Given the description of an element on the screen output the (x, y) to click on. 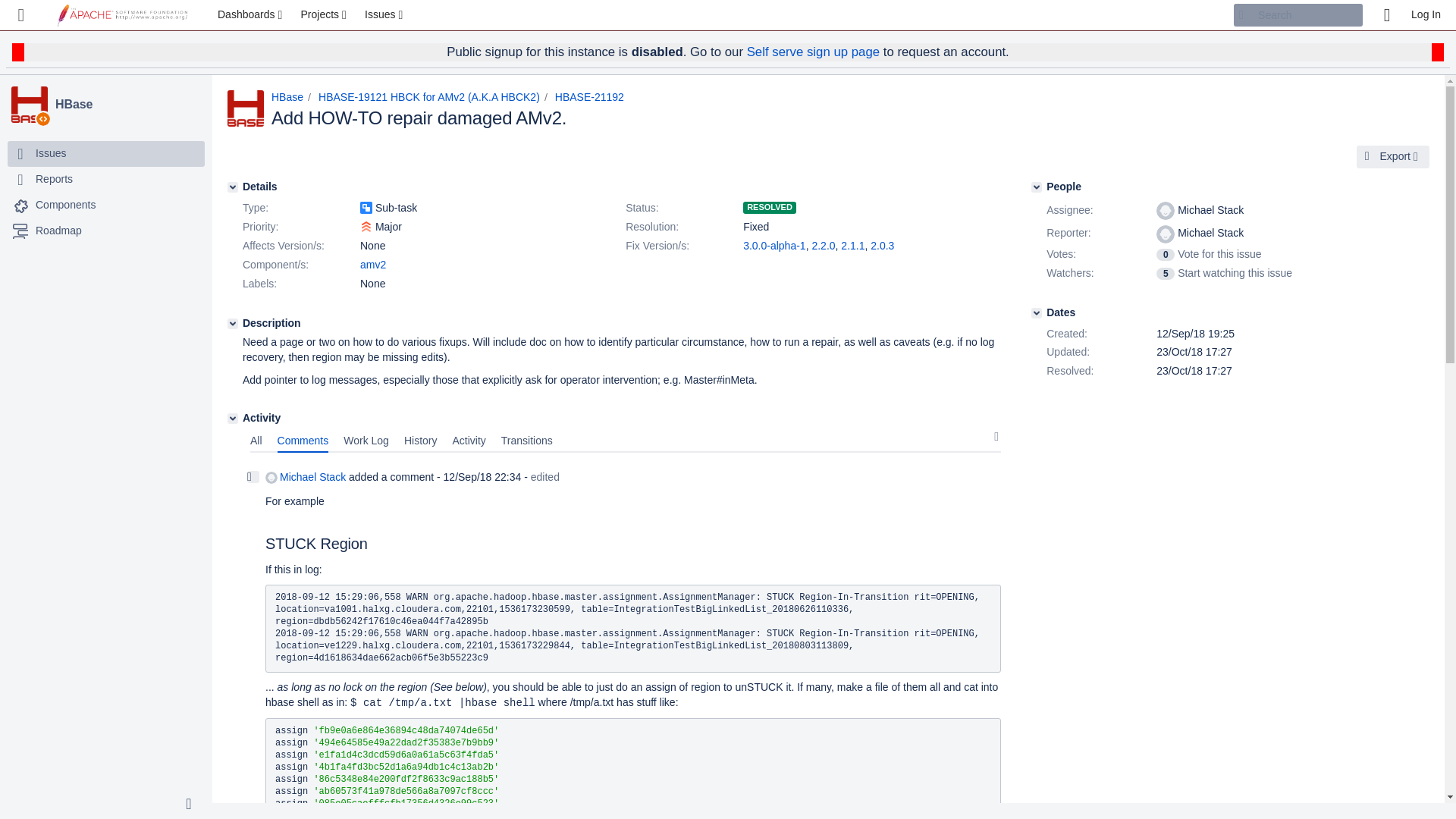
Issues (106, 153)
View recent projects and browse a list of projects (324, 15)
2.0.3 (881, 245)
Log In (1425, 15)
Reports (53, 179)
View and manage your dashboards (251, 15)
Linked Applications (20, 15)
Roadmap (57, 231)
Export (1392, 156)
HBase (127, 104)
Reports (106, 179)
HBase (127, 104)
HBASE-21192 (589, 96)
Issues (49, 153)
Components (106, 205)
